Given the description of an element on the screen output the (x, y) to click on. 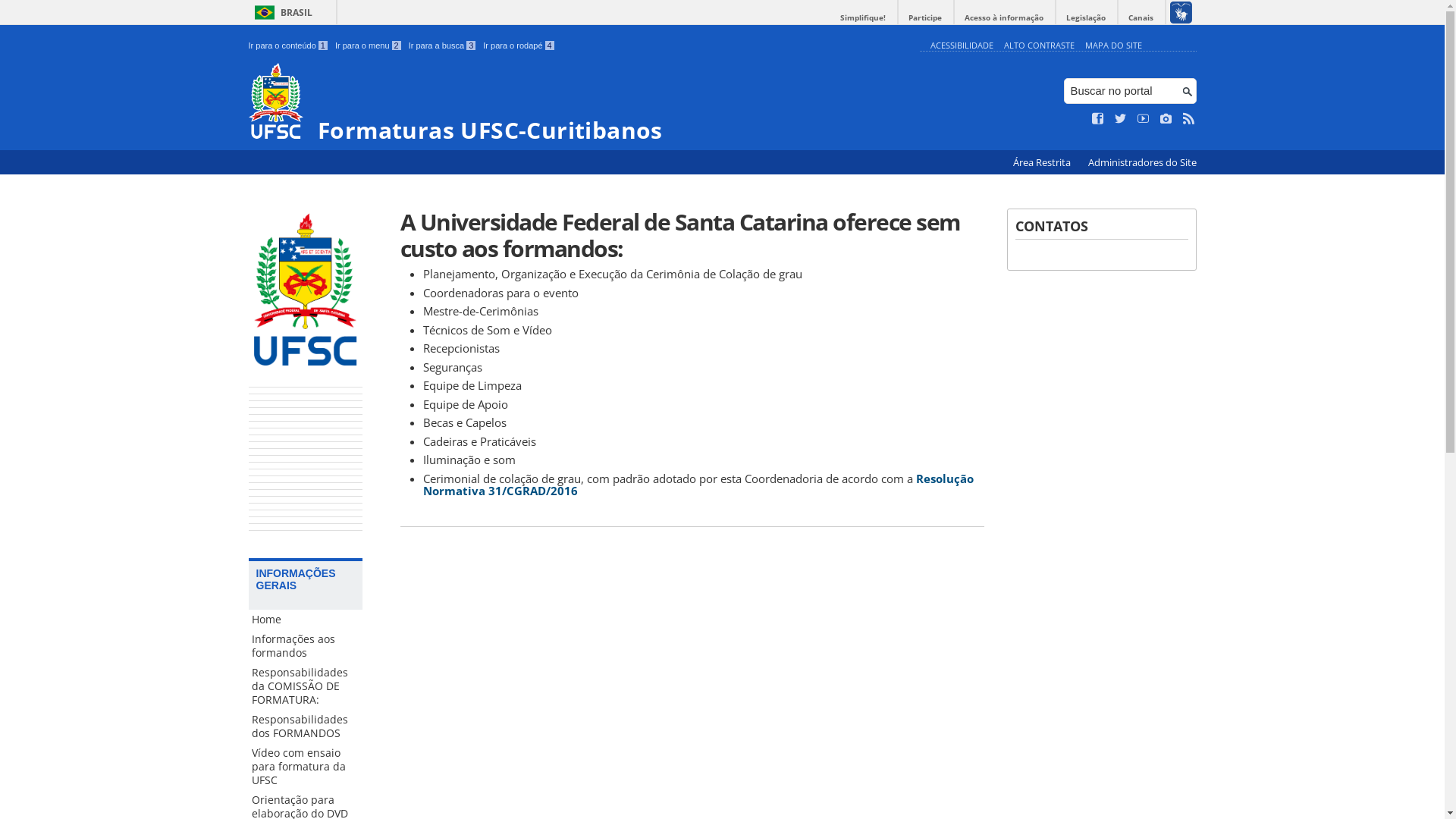
ALTO CONTRASTE Element type: text (1039, 44)
Curta no Facebook Element type: hover (1098, 118)
BRASIL Element type: text (280, 12)
MAPA DO SITE Element type: text (1112, 44)
Simplifique! Element type: text (862, 18)
Siga no Twitter Element type: hover (1120, 118)
Administradores do Site Element type: text (1141, 162)
Ir para a busca 3 Element type: text (442, 45)
Formaturas UFSC-Curitibanos Element type: text (580, 102)
ACESSIBILIDADE Element type: text (960, 44)
Canais Element type: text (1140, 18)
Ir para o menu 2 Element type: text (368, 45)
Responsabilidades dos FORMANDOS Element type: text (305, 726)
Home Element type: text (305, 619)
Participe Element type: text (924, 18)
Veja no Instagram Element type: hover (1166, 118)
